Given the description of an element on the screen output the (x, y) to click on. 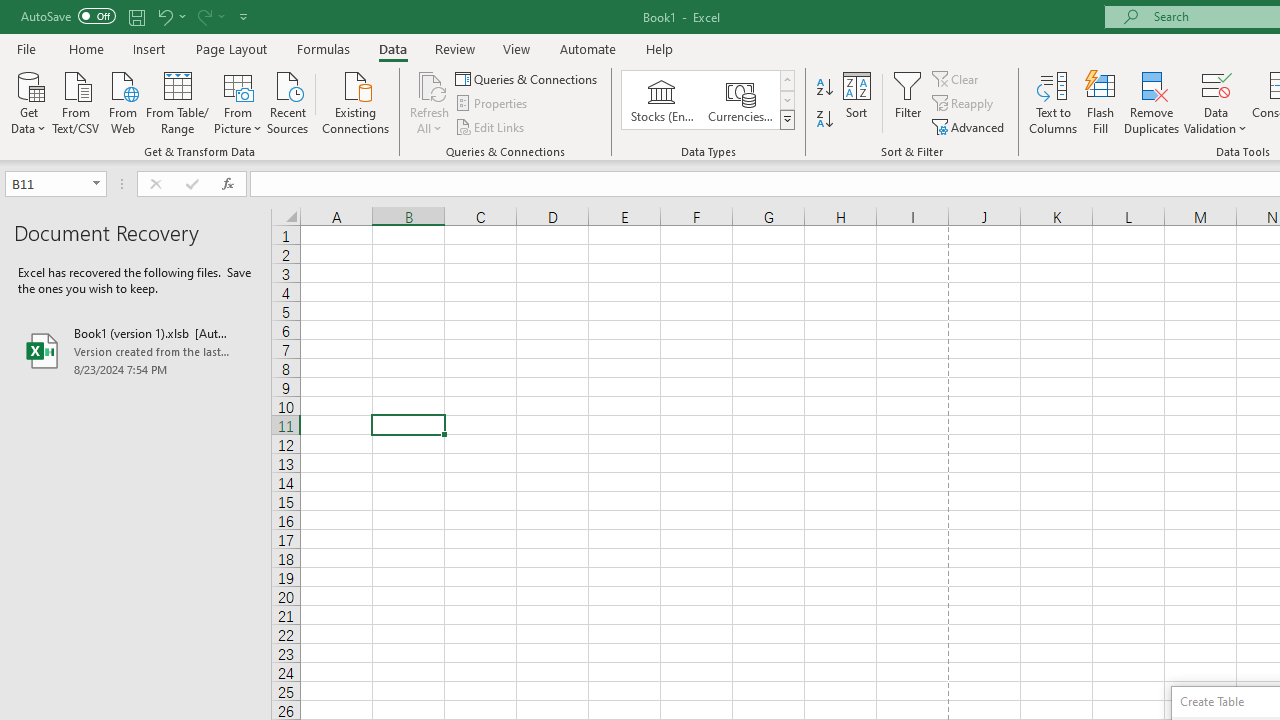
Existing Connections (355, 101)
File Tab (26, 48)
Queries & Connections (527, 78)
Row up (786, 79)
Home (86, 48)
Data Validation... (1215, 102)
Book1 (version 1).xlsb  [AutoRecovered] (136, 350)
Clear (957, 78)
Text to Columns... (1053, 102)
From Table/Range (177, 101)
Insert (149, 48)
Data (392, 48)
Quick Access Toolbar (136, 16)
AutoSave (68, 16)
